Given the description of an element on the screen output the (x, y) to click on. 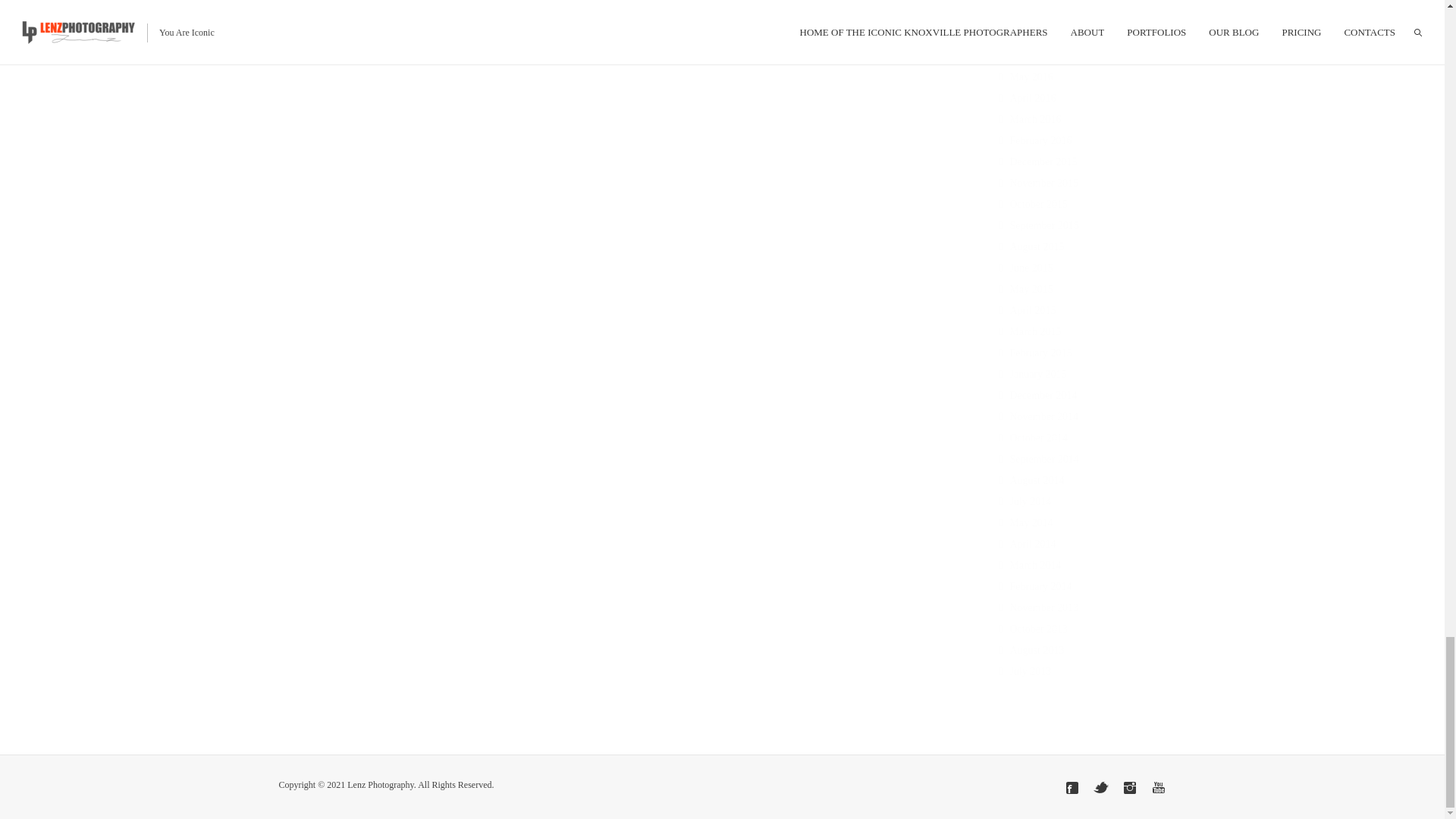
Facebook (1072, 787)
Instagram (1129, 787)
Youtube (1158, 787)
Twitter (1100, 787)
